Given the description of an element on the screen output the (x, y) to click on. 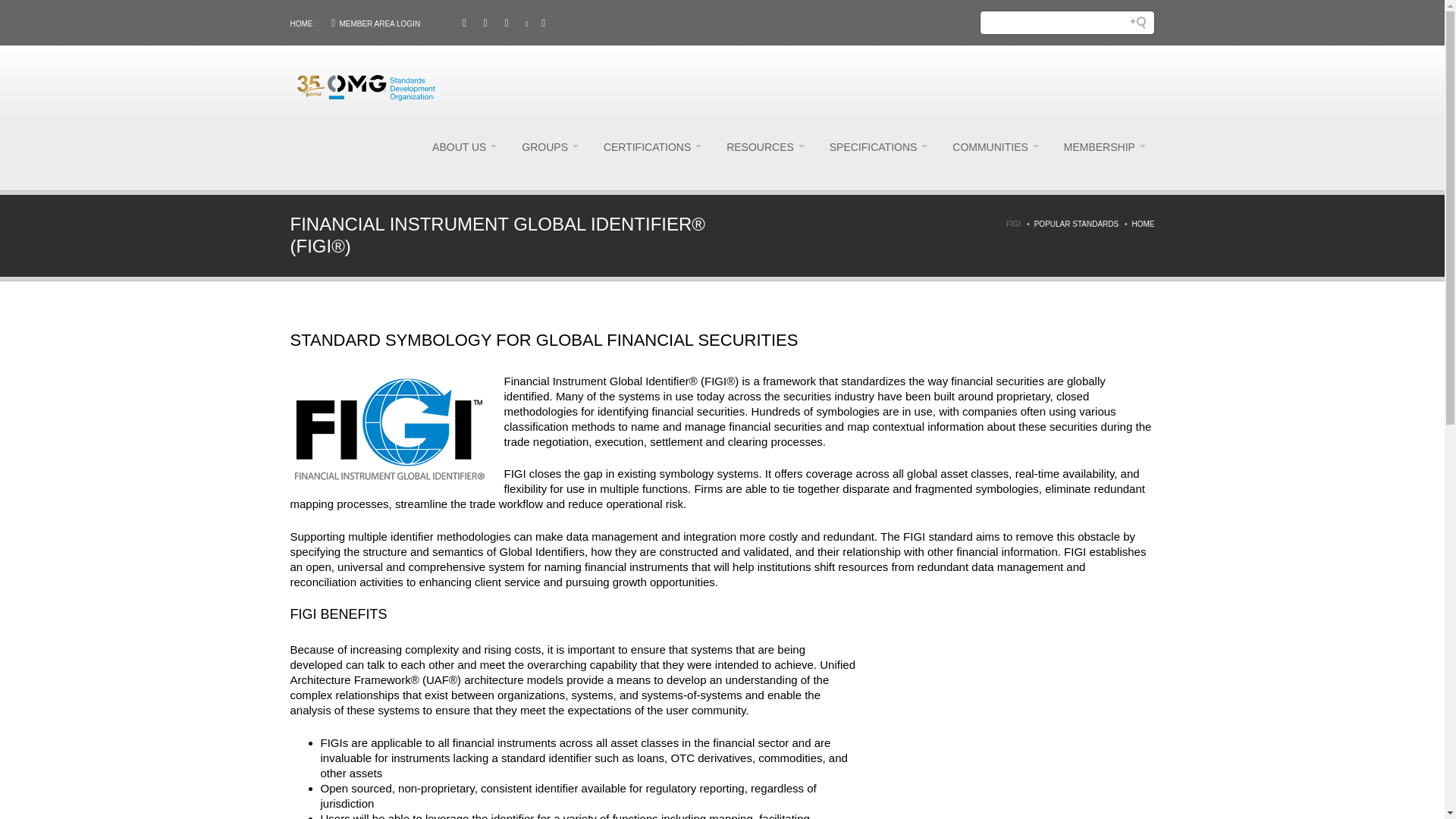
ABOUT US (464, 147)
GROUPS (550, 147)
MEMBER AREA LOGIN (379, 24)
HOME (301, 24)
